Given the description of an element on the screen output the (x, y) to click on. 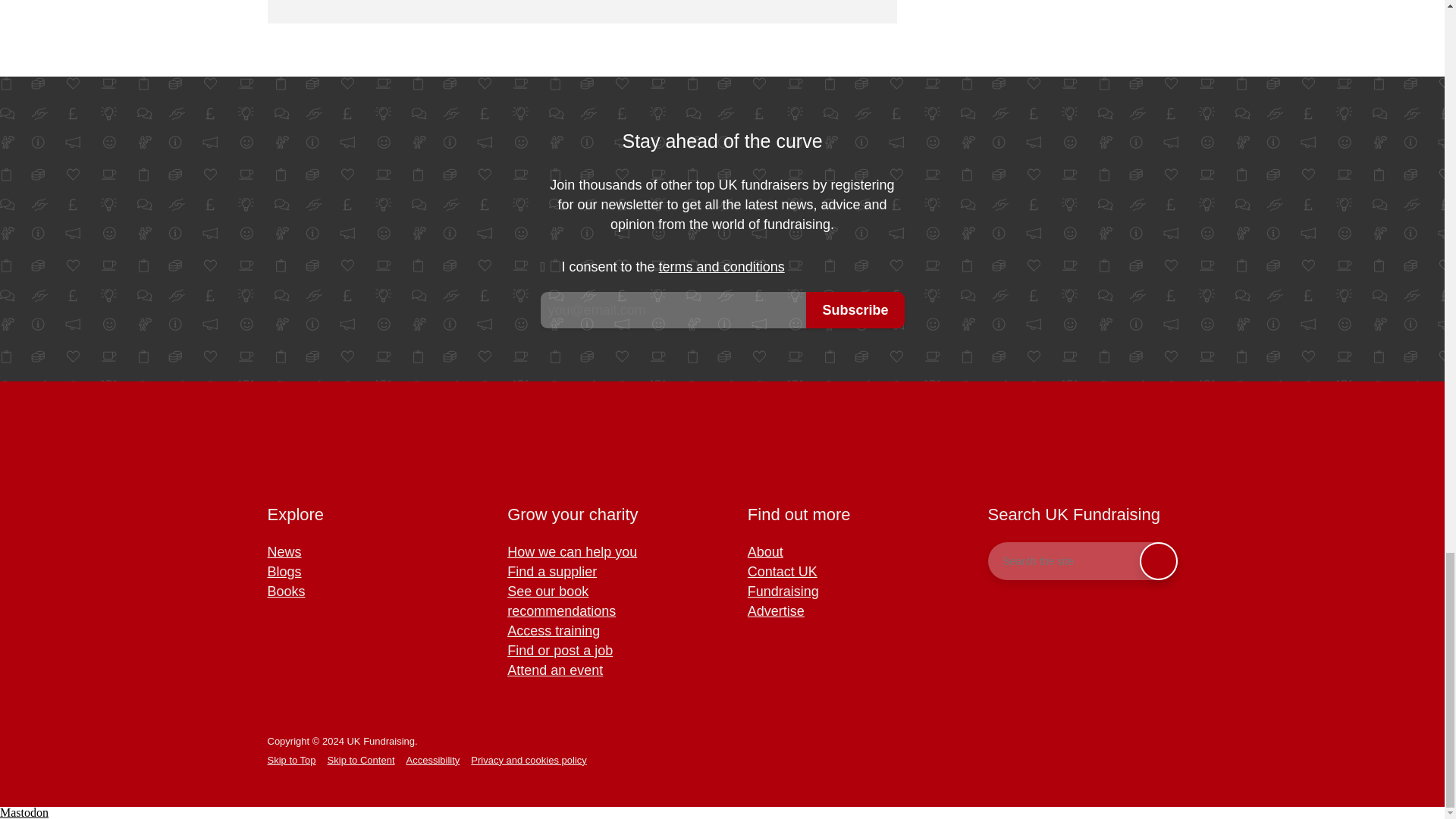
on (551, 267)
Subscribe (855, 309)
